Given the description of an element on the screen output the (x, y) to click on. 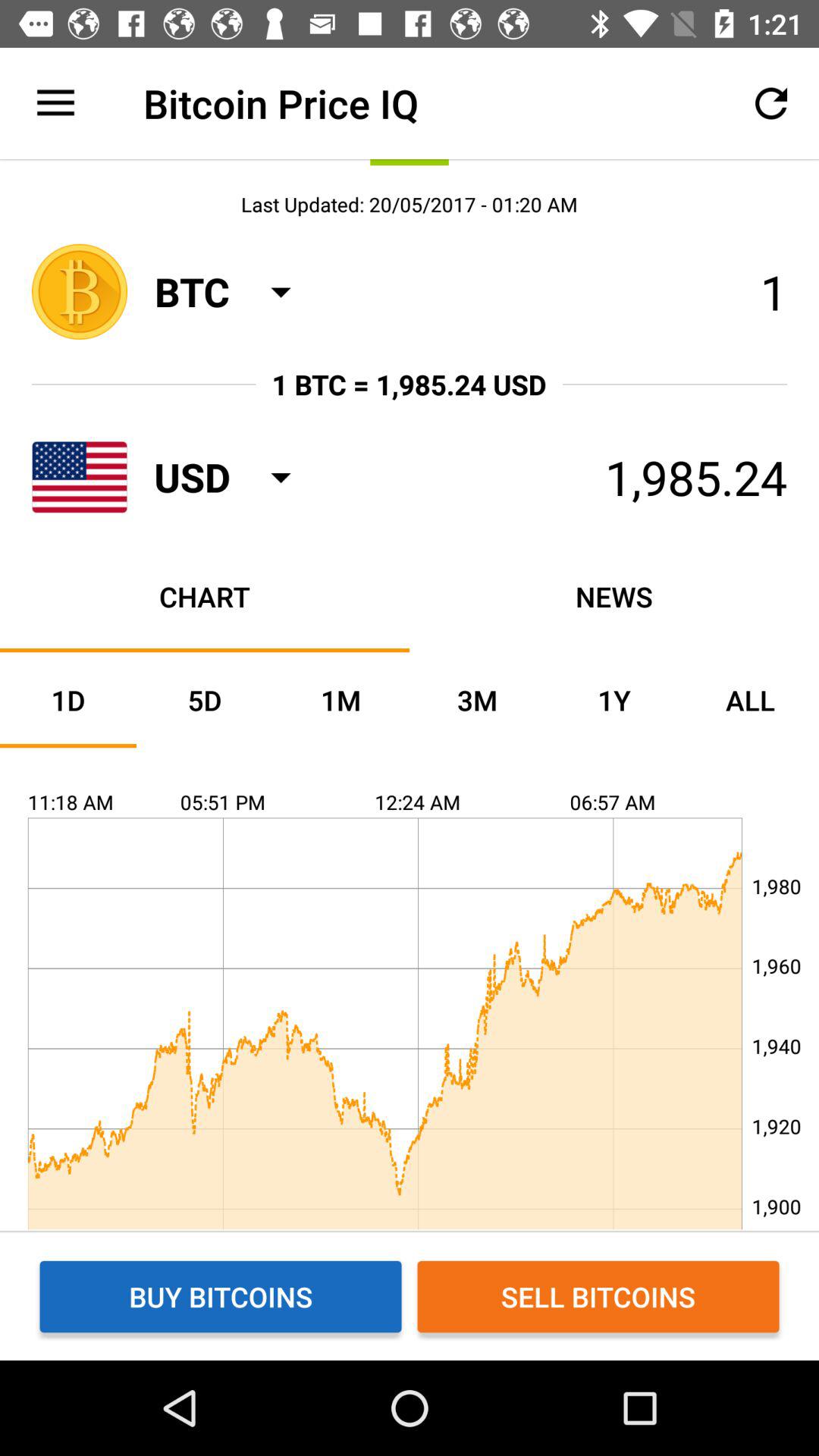
select icon next to the bitcoin price iq (55, 103)
